Given the description of an element on the screen output the (x, y) to click on. 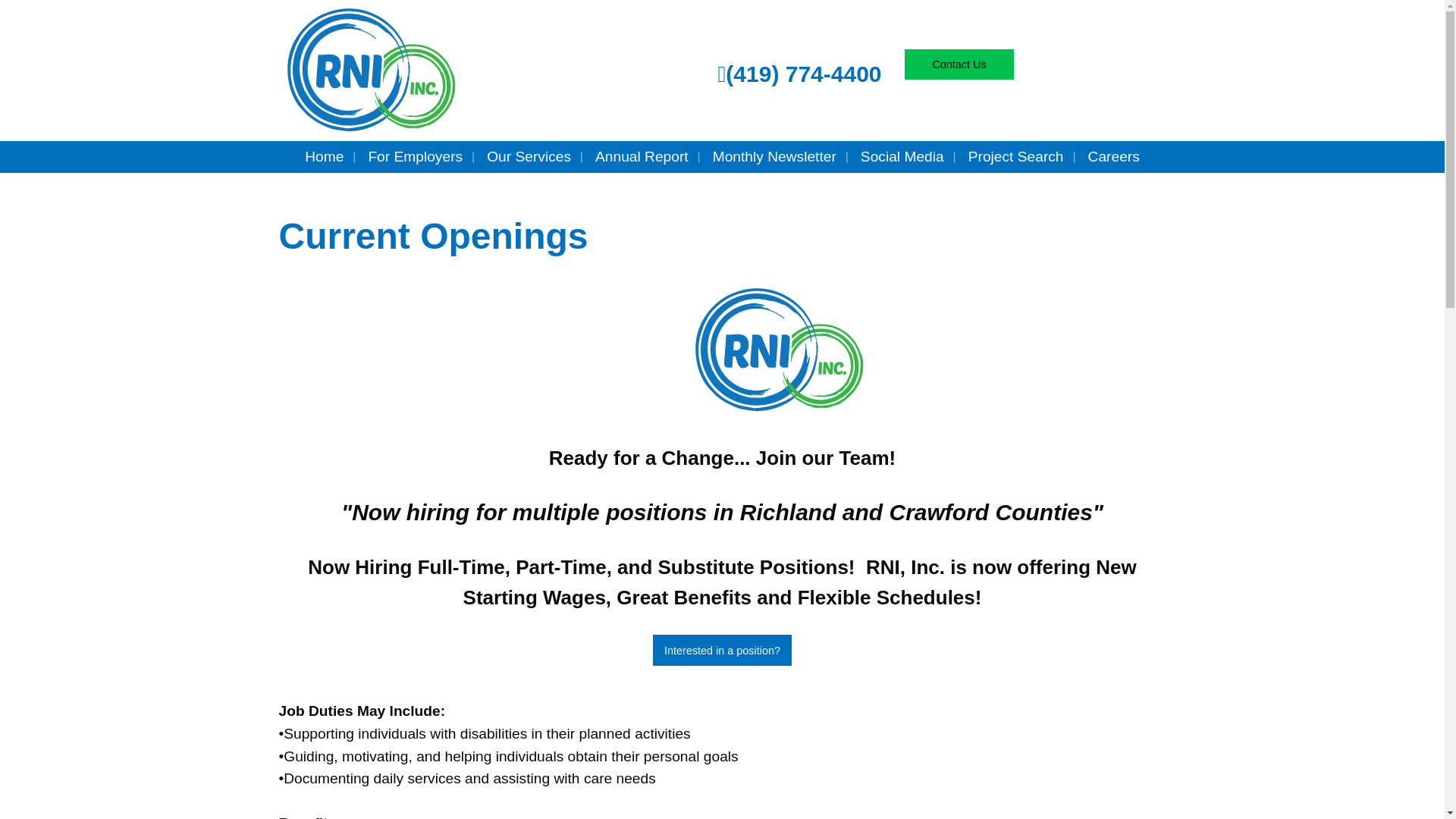
Our Services (528, 156)
For Employers (414, 156)
Annual Report (641, 156)
Home (323, 156)
Social Media (902, 156)
Project Search (1015, 156)
Contact Us (958, 64)
Interested in a position? (722, 649)
Careers (1113, 156)
Monthly Newsletter (774, 156)
